Given the description of an element on the screen output the (x, y) to click on. 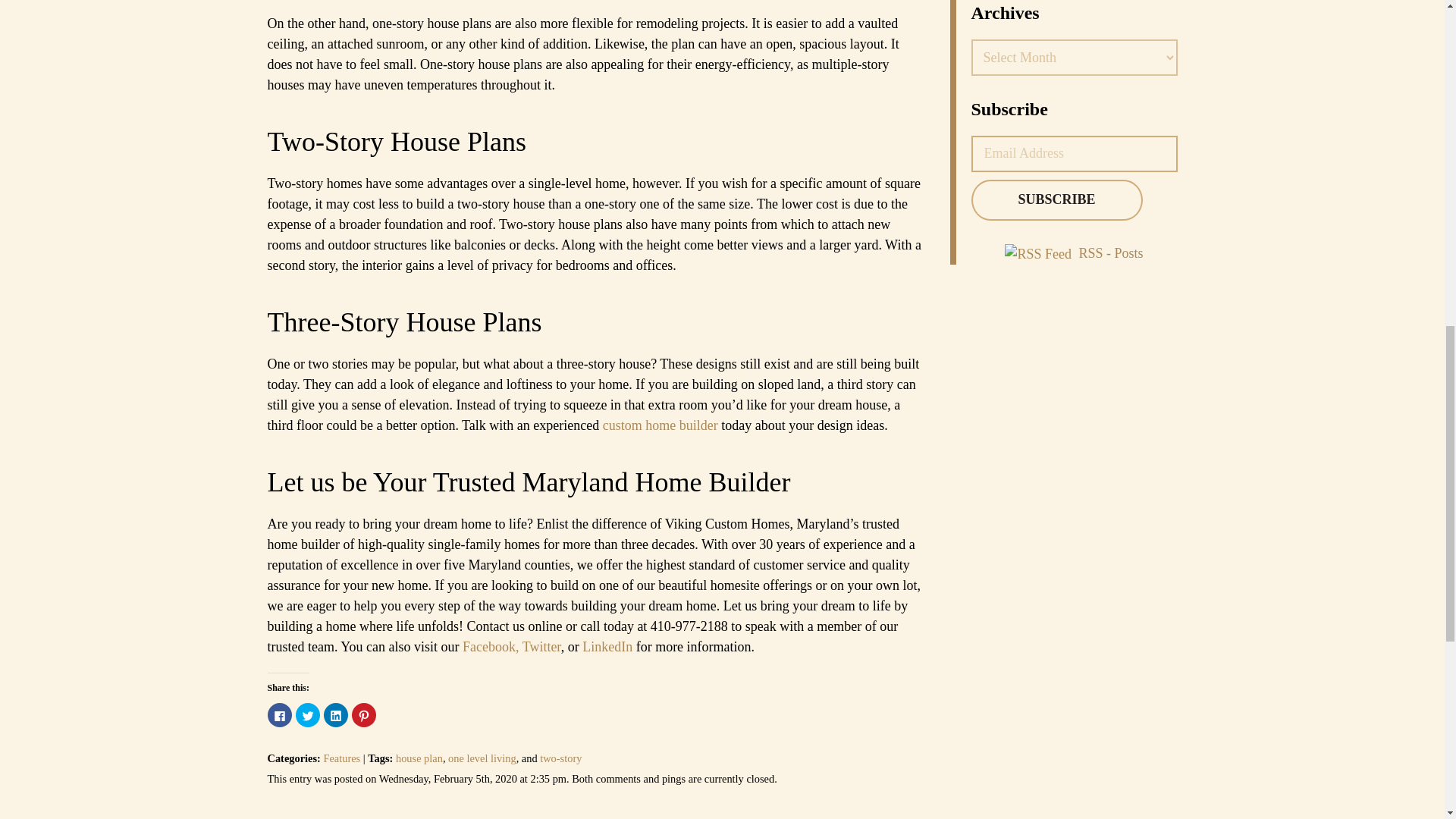
LinkedIn (605, 646)
Facebook, (492, 646)
Subscribe to Posts (1039, 253)
Subscribe to Posts (1110, 253)
Click to share on LinkedIn (335, 714)
house plan (419, 758)
Click to share on Pinterest (363, 714)
Subscribe (1056, 199)
Click to share on Twitter (307, 714)
Features (341, 758)
